Given the description of an element on the screen output the (x, y) to click on. 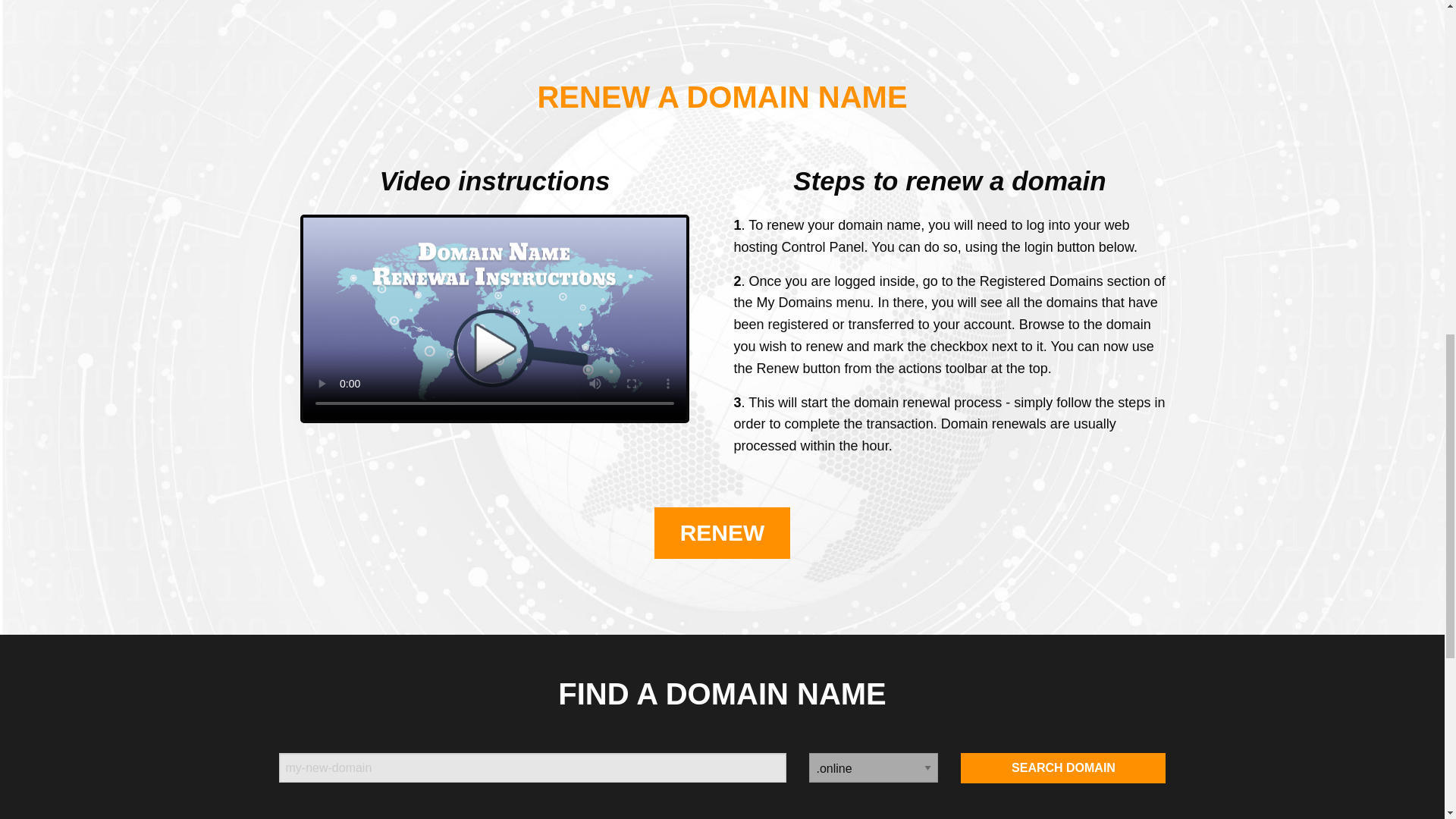
RENEW (721, 532)
Renew (721, 532)
Search Domain (1063, 767)
SEARCH DOMAIN (1063, 767)
